Given the description of an element on the screen output the (x, y) to click on. 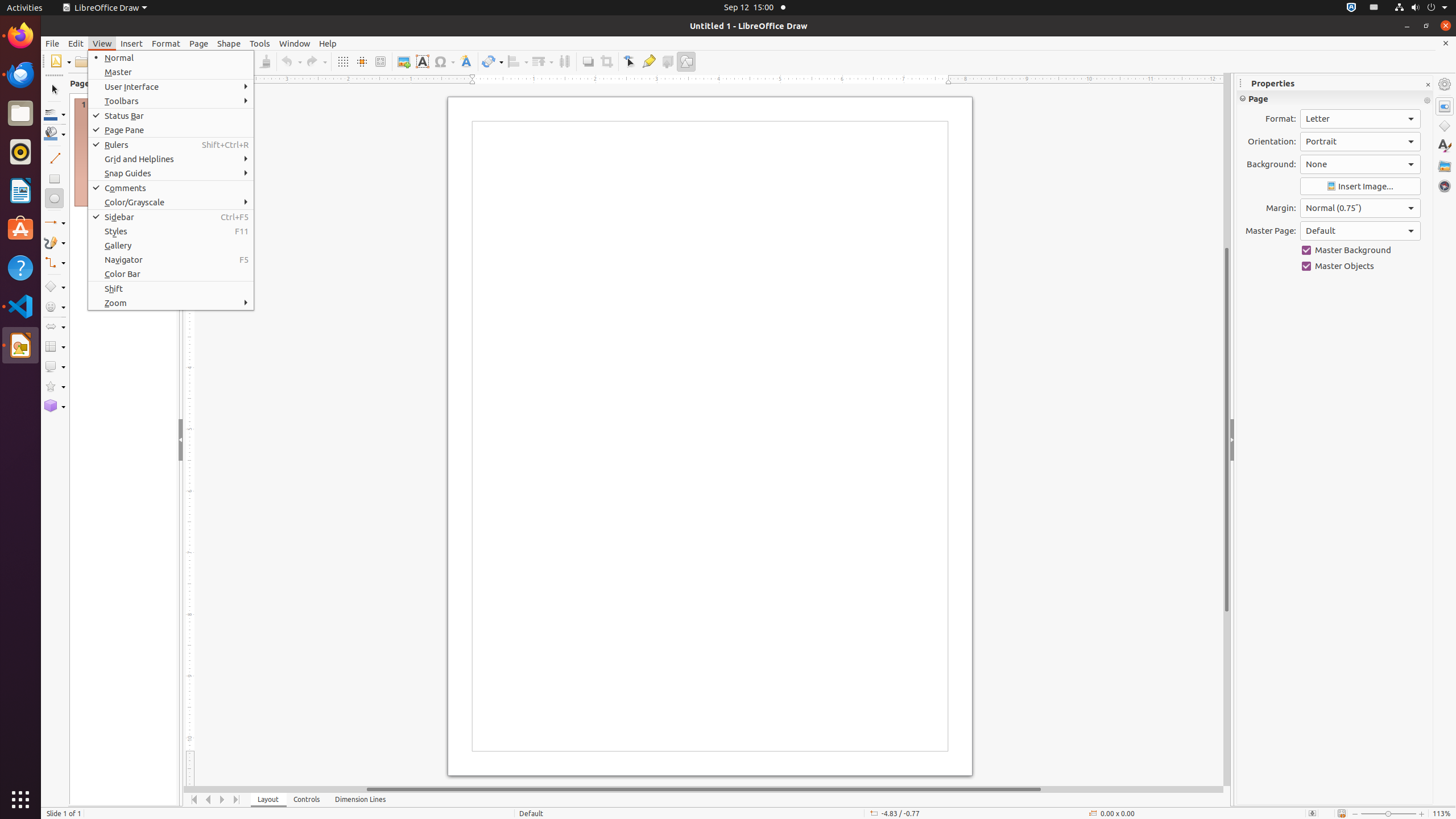
Navigator Element type: radio-button (1444, 185)
Helplines While Moving Element type: toggle-button (361, 61)
Normal Element type: radio-menu-item (170, 57)
Symbol Element type: push-button (443, 61)
